Given the description of an element on the screen output the (x, y) to click on. 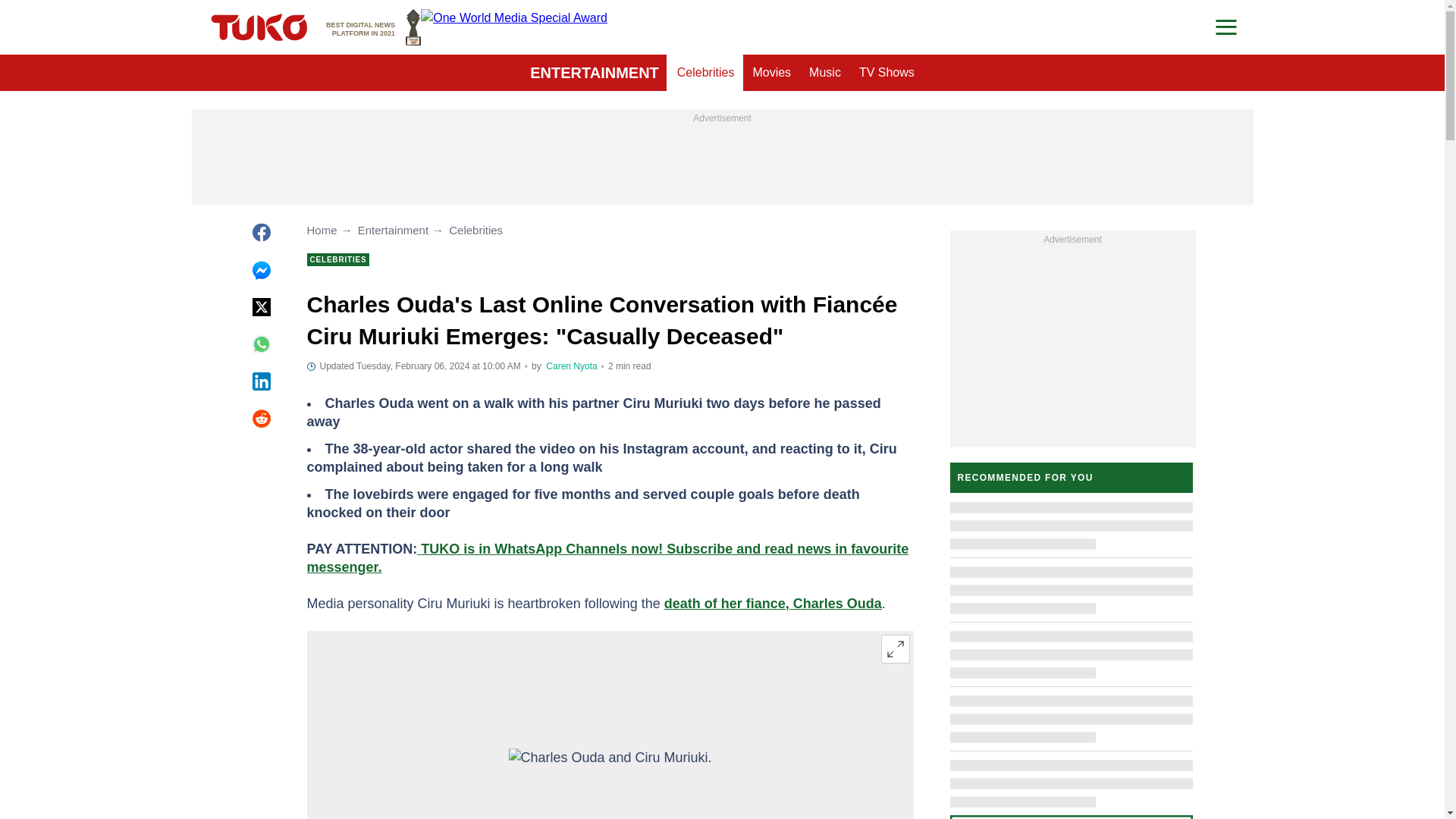
Celebrities (706, 72)
Expand image (895, 648)
TV Shows (886, 72)
Movies (770, 72)
Charles Ouda and Ciru Muriuki. (609, 783)
Author page (571, 366)
ENTERTAINMENT (594, 72)
Music (824, 72)
